Given the description of an element on the screen output the (x, y) to click on. 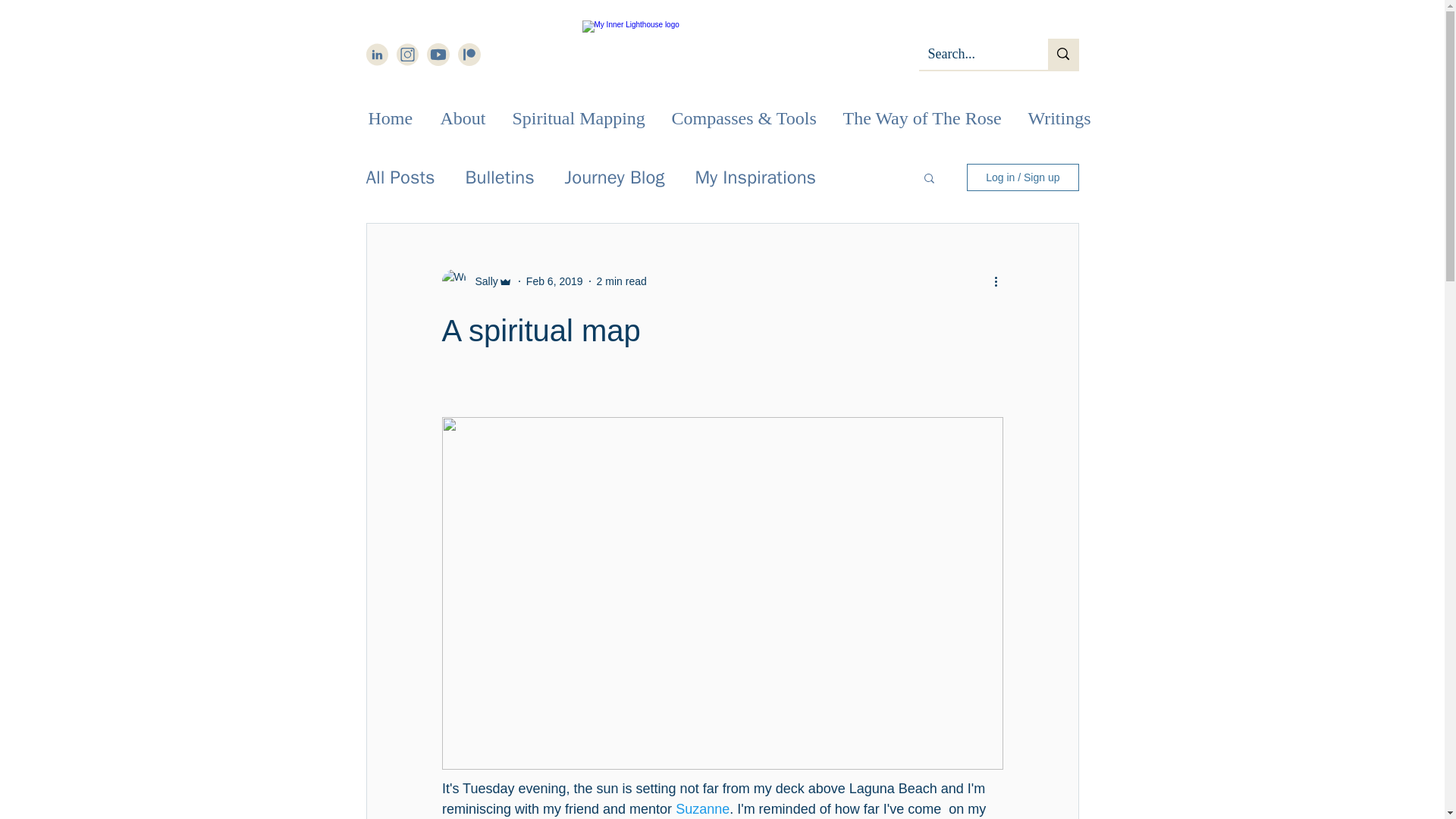
Feb 6, 2019 (554, 280)
Suzanne (702, 808)
Sally (481, 280)
Home (392, 116)
2 min read (621, 280)
About (464, 116)
All Posts (399, 177)
My Inspirations (754, 177)
Journey Blog (614, 177)
The Way of The Rose (922, 116)
